Given the description of an element on the screen output the (x, y) to click on. 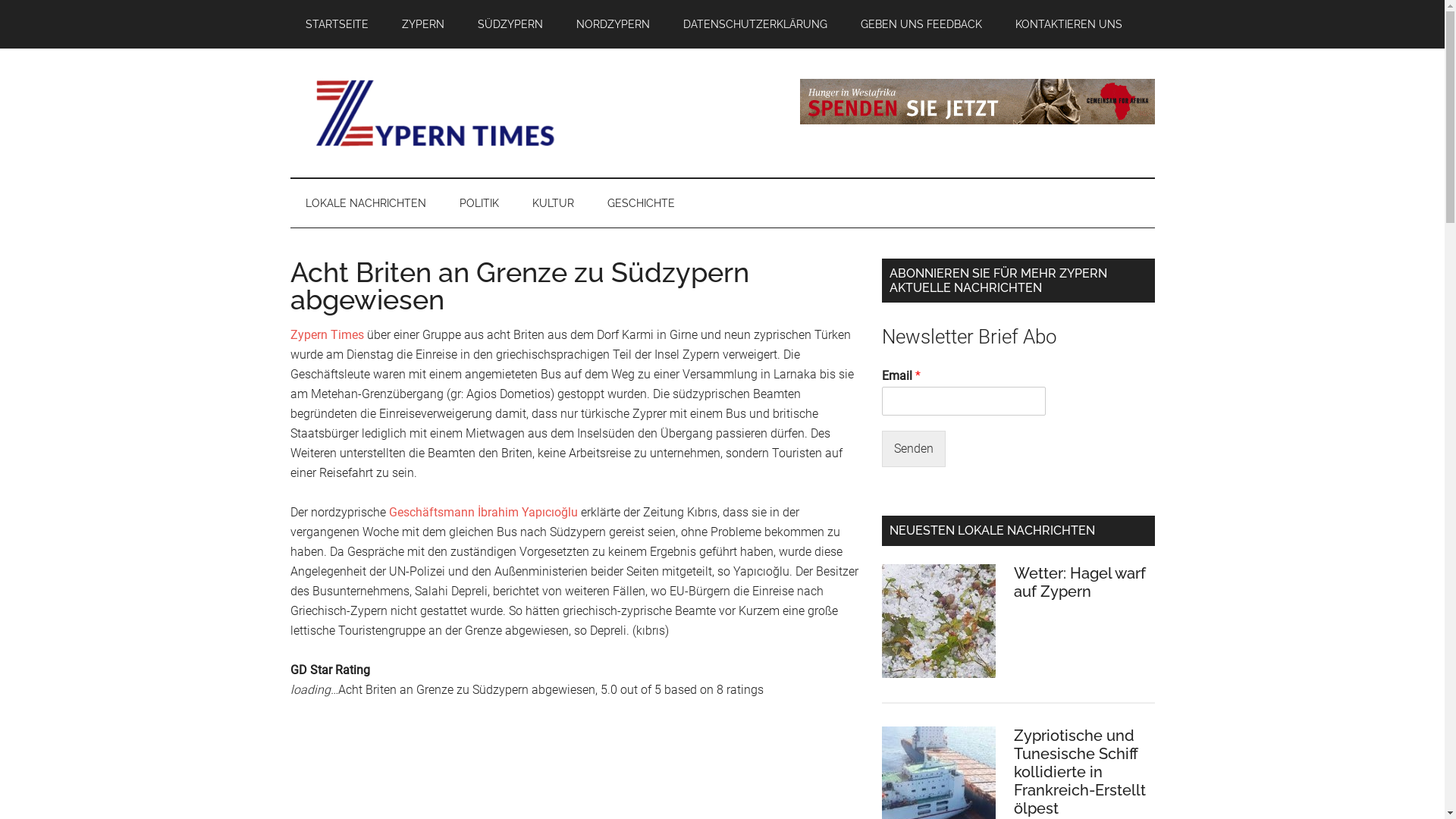
STARTSEITE Element type: text (335, 24)
Senden Element type: text (912, 448)
NORDZYPERN Element type: text (613, 24)
KONTAKTIEREN UNS Element type: text (1067, 24)
LOKALE NACHRICHTEN Element type: text (364, 202)
GEBEN UNS FEEDBACK Element type: text (920, 24)
GESCHICHTE Element type: text (640, 202)
KULTUR Element type: text (553, 202)
Skip to main content Element type: text (0, 0)
POLITIK Element type: text (479, 202)
Zypern Times Element type: text (433, 112)
ZYPERN Element type: text (422, 24)
Zypern Times Element type: text (326, 334)
Wetter: Hagel warf auf Zypern Element type: text (1079, 582)
